Given the description of an element on the screen output the (x, y) to click on. 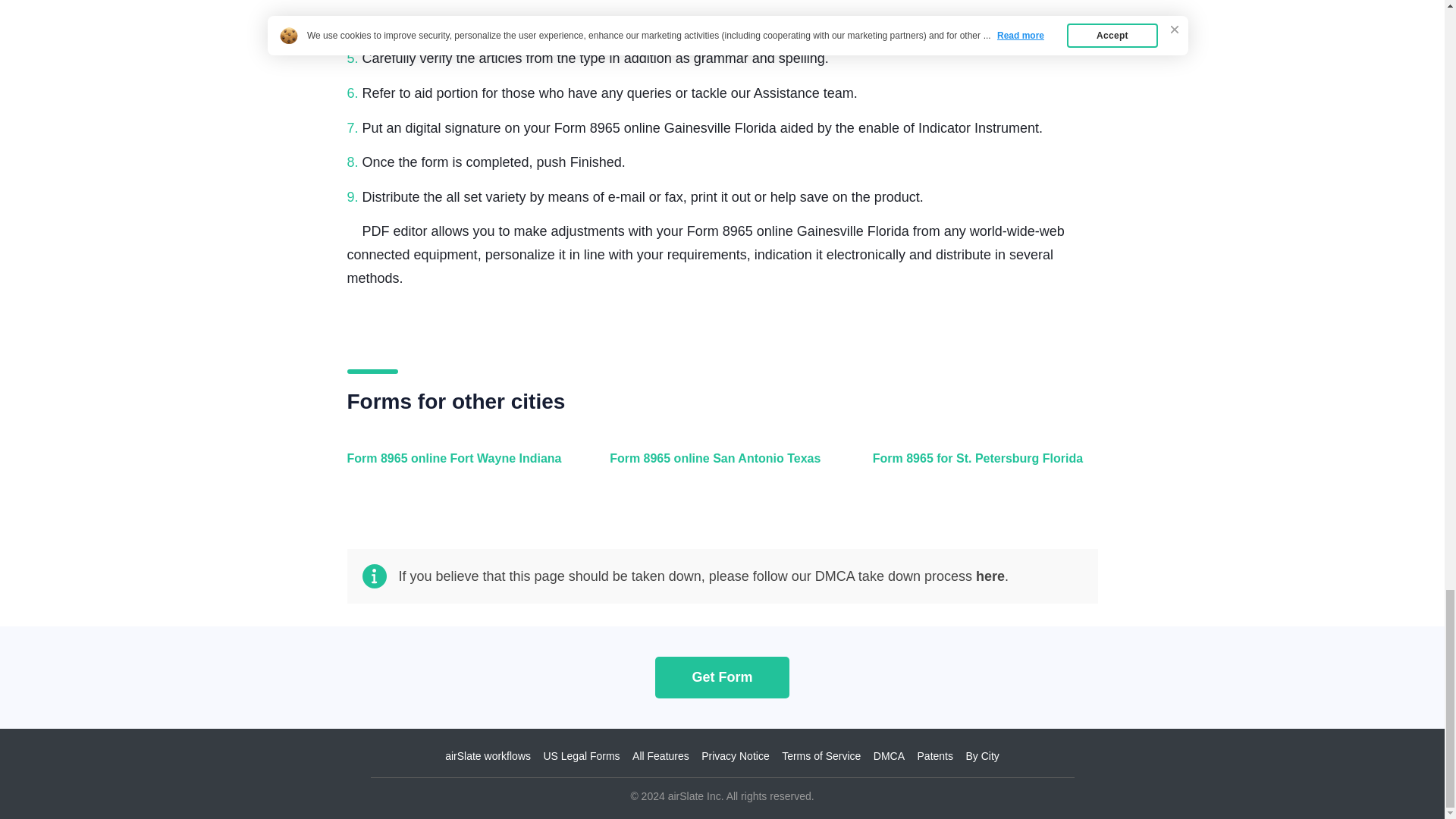
US Legal Forms (581, 756)
airSlate workflows (488, 756)
Terms of Service (820, 756)
DMCA (888, 756)
Get Form (722, 676)
By City (981, 756)
Patents (935, 756)
Form 8965 online Fort Wayne Indiana (456, 466)
Form 8965 for St. Petersburg Florida (981, 466)
Privacy Notice (734, 756)
